Given the description of an element on the screen output the (x, y) to click on. 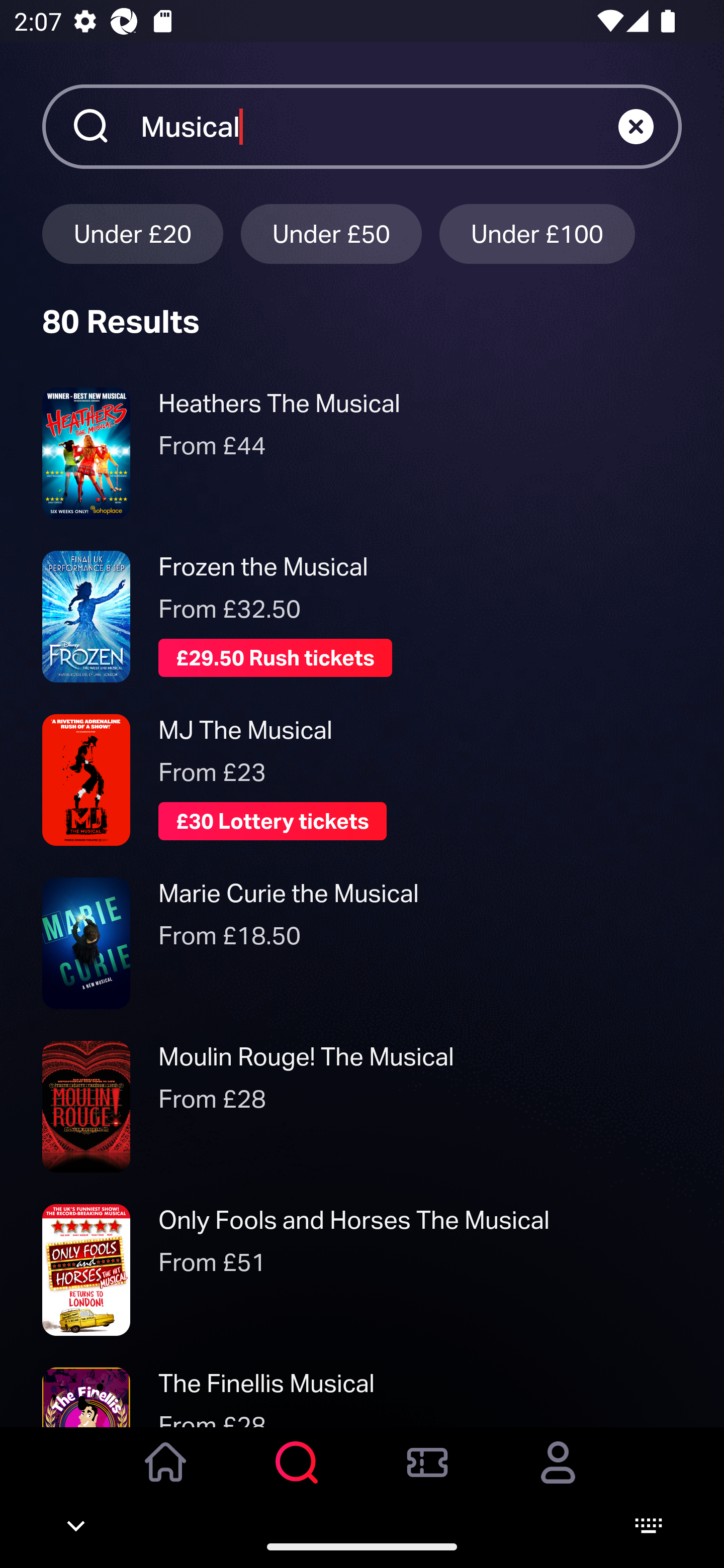
Musical (379, 126)
Under £20 (131, 233)
Under £50 (331, 233)
Under £100 (536, 233)
Home (165, 1475)
Orders (427, 1475)
Account (558, 1475)
